Given the description of an element on the screen output the (x, y) to click on. 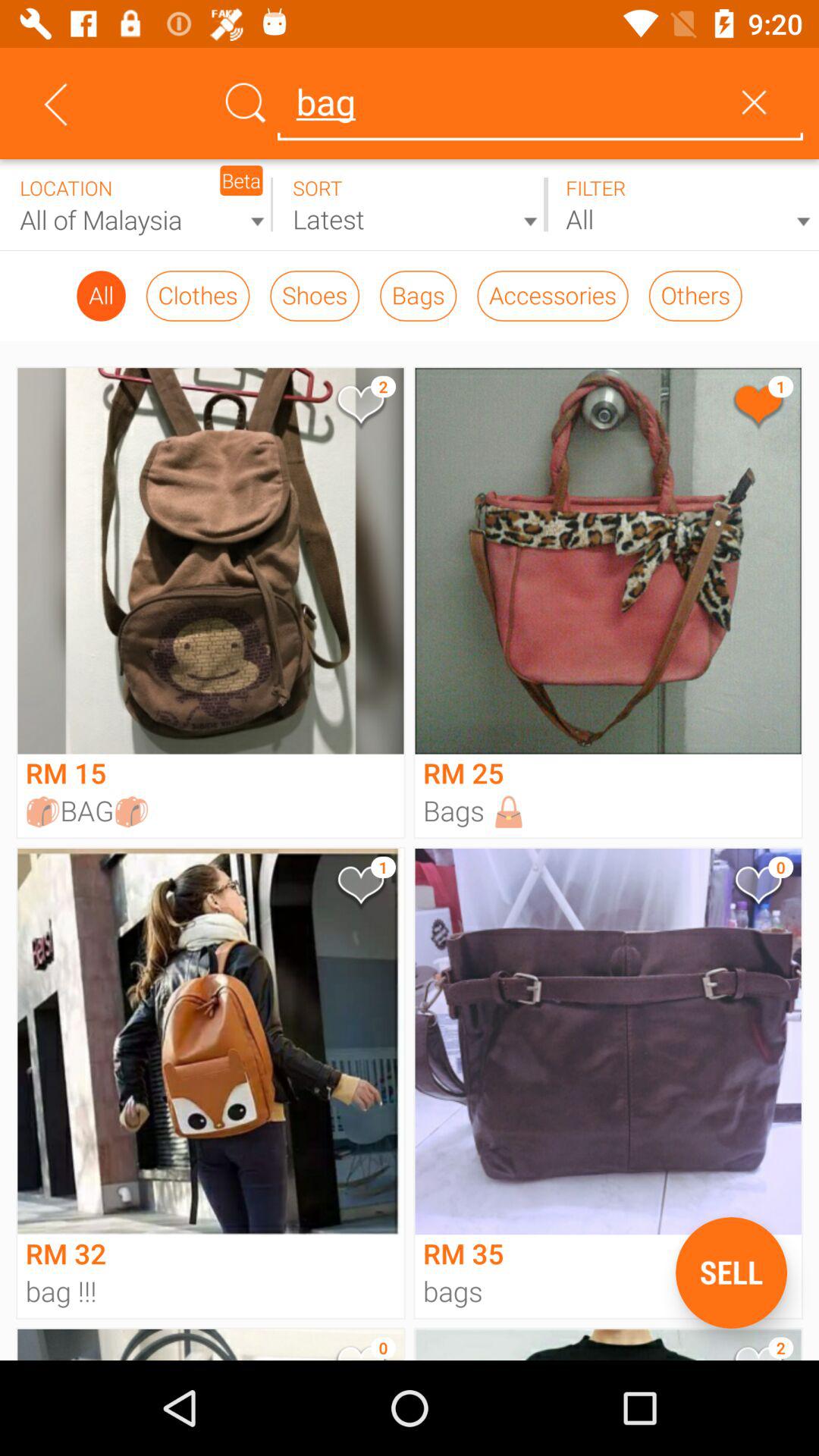
view sort menu (409, 204)
